Given the description of an element on the screen output the (x, y) to click on. 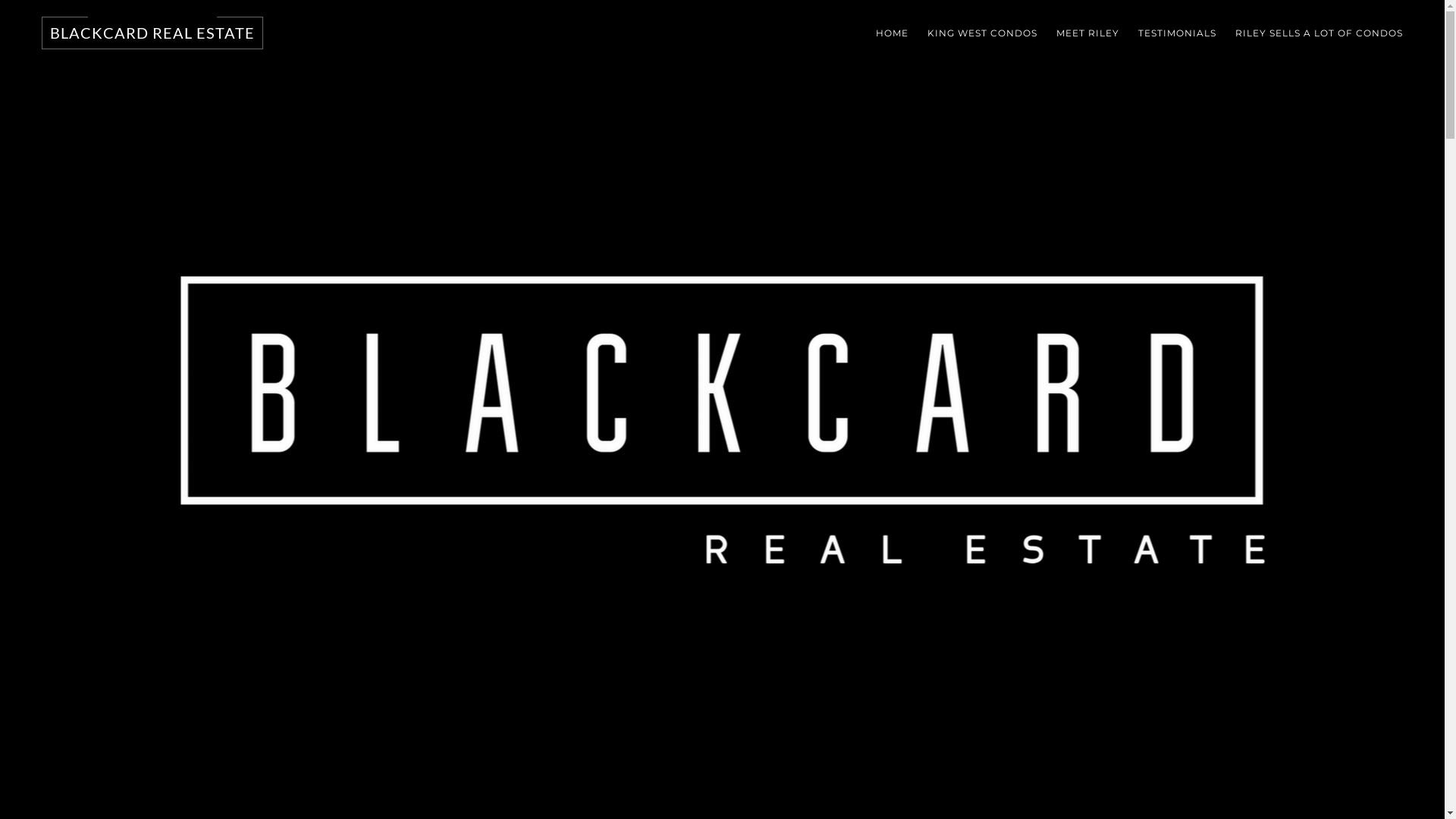
BLACKCARD REAL ESTATE Element type: text (152, 32)
TESTIMONIALS Element type: text (1177, 33)
MEET RILEY Element type: text (1087, 33)
RILEY SELLS A LOT OF CONDOS Element type: text (1318, 33)
KING WEST CONDOS Element type: text (982, 33)
HOME Element type: text (891, 33)
